Given the description of an element on the screen output the (x, y) to click on. 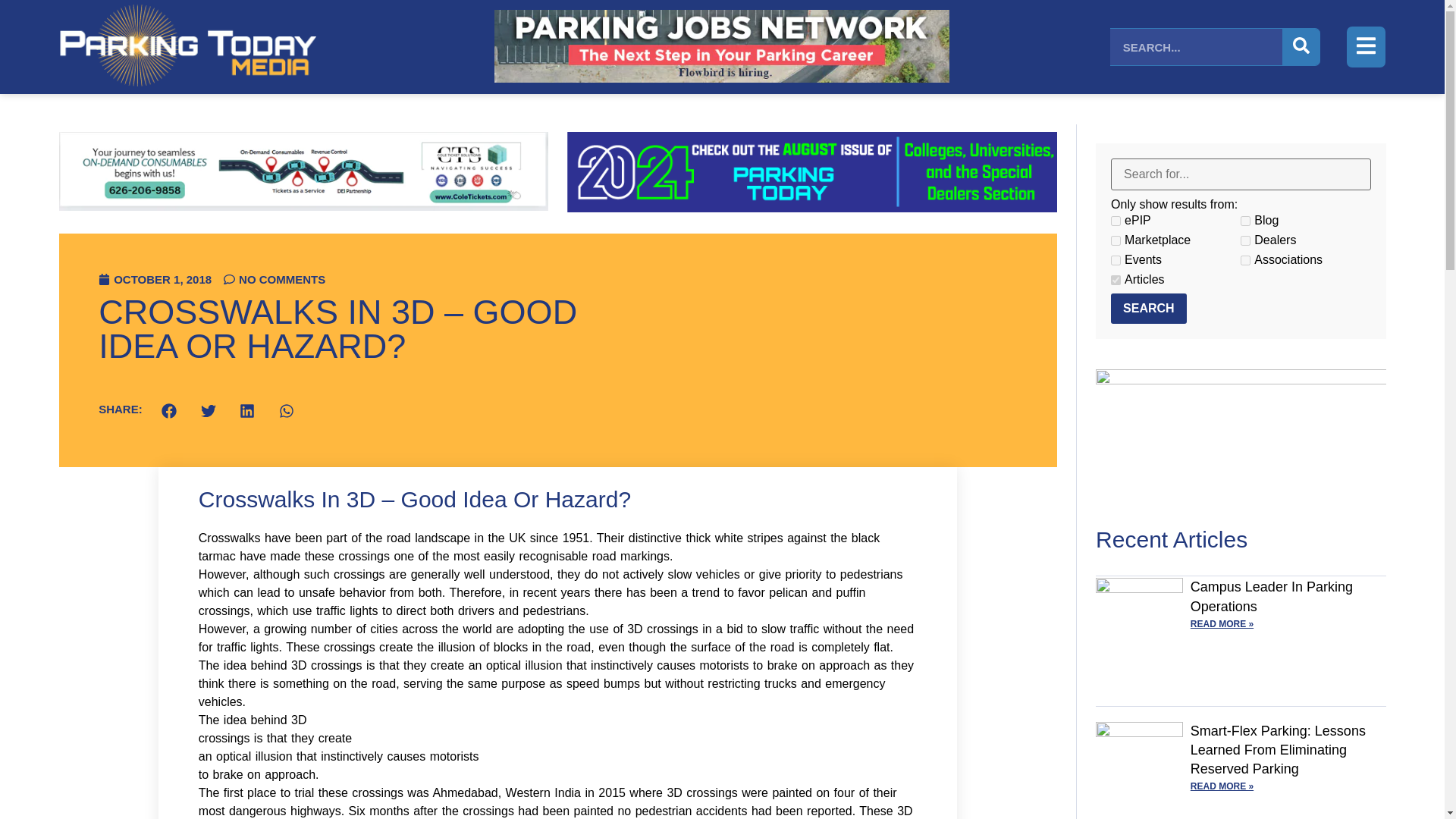
Marketplace (1115, 240)
Search (1148, 308)
ePIP (1115, 221)
Articles (1115, 280)
Blog (1245, 221)
Campus Leader In Parking Operations (1271, 596)
Associations (1245, 260)
NO COMMENTS (274, 279)
Search (1148, 308)
Events (1115, 260)
